Given the description of an element on the screen output the (x, y) to click on. 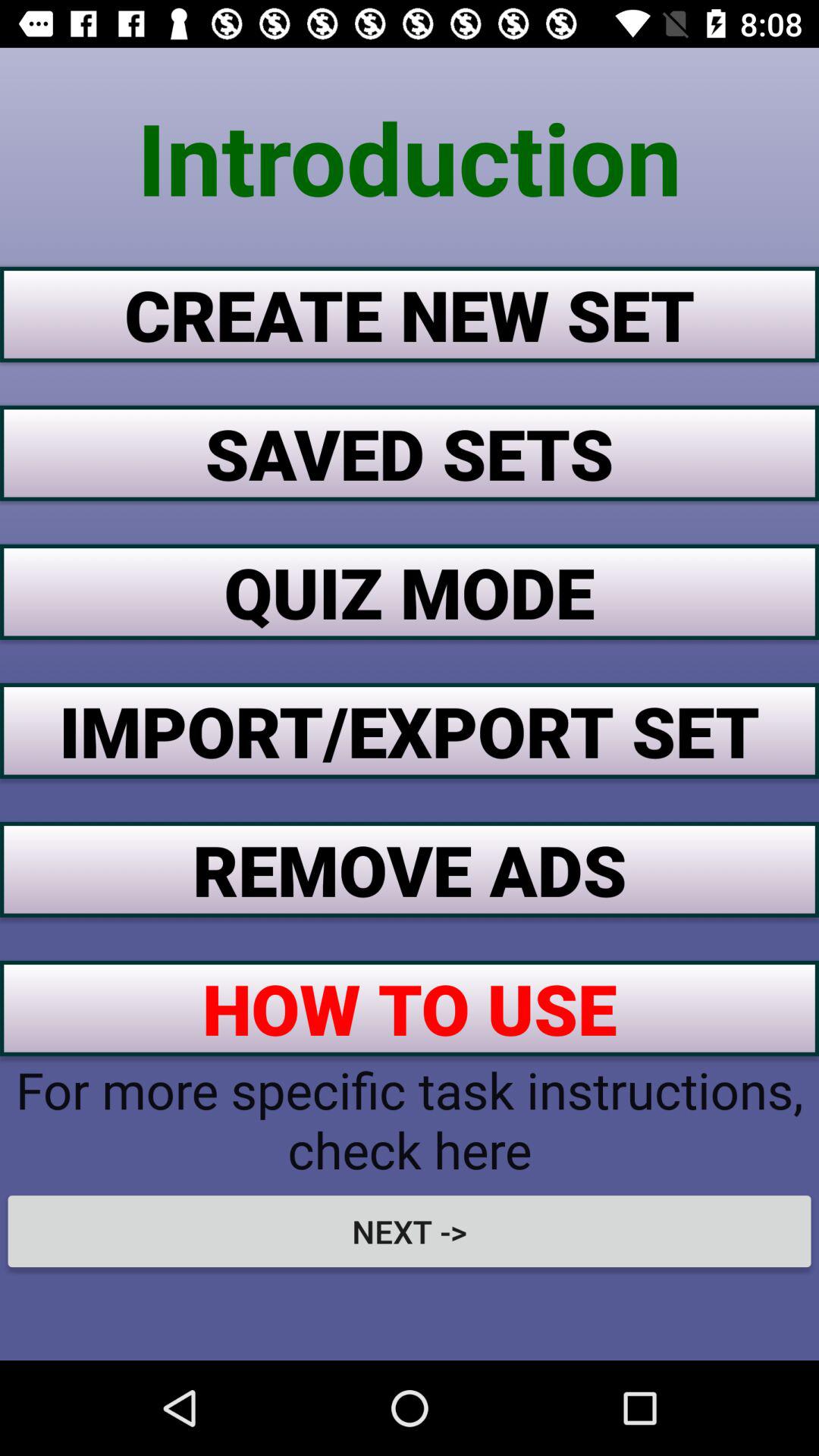
turn on the item above quiz mode button (409, 453)
